Given the description of an element on the screen output the (x, y) to click on. 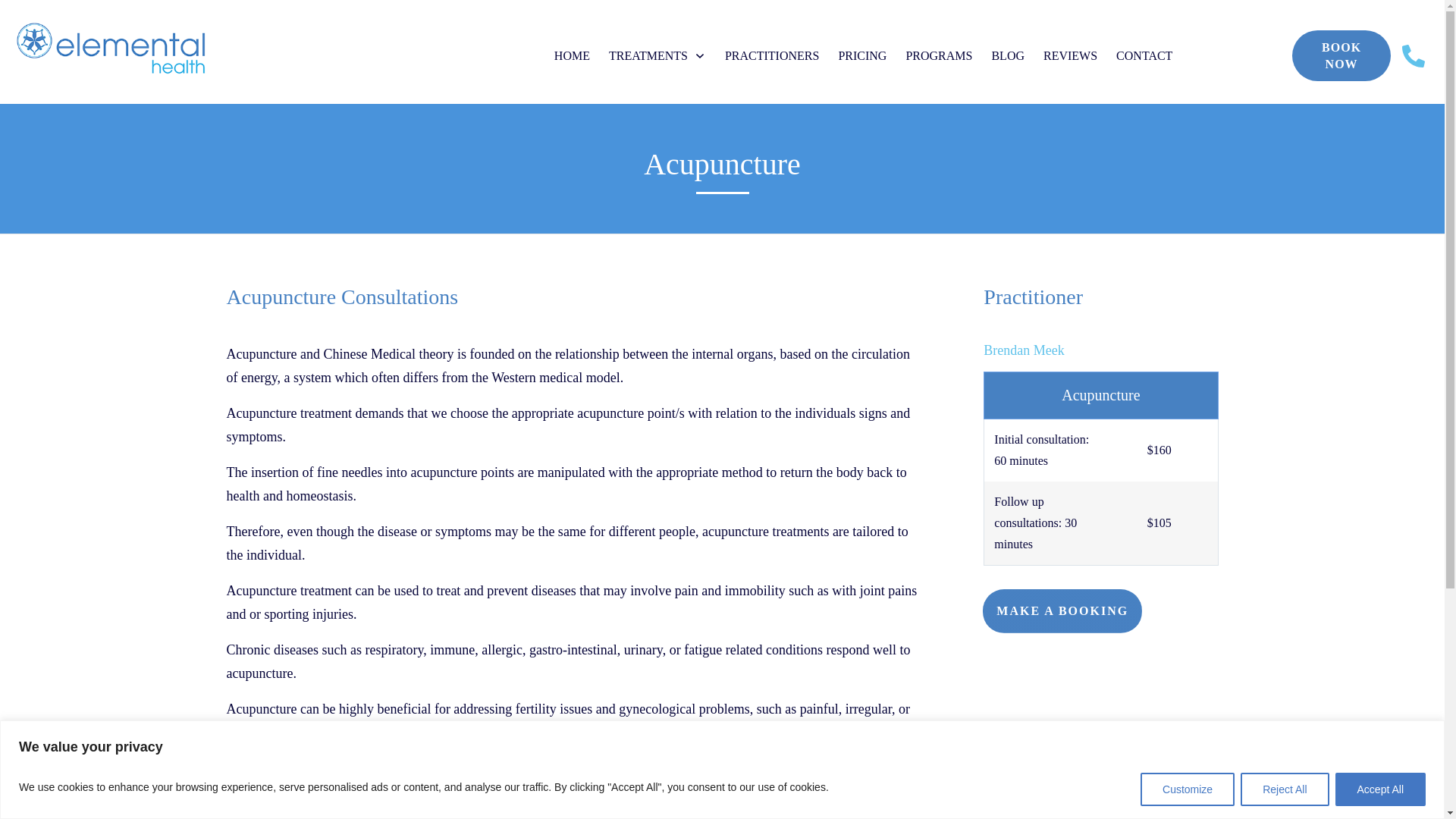
Reject All (1283, 788)
TREATMENTS (657, 55)
BLOG (1008, 55)
PRACTITIONERS (771, 55)
PRICING (862, 55)
MAKE A BOOKING (1061, 610)
Accept All (1380, 788)
HOME (571, 55)
BOOK NOW (1341, 55)
REVIEWS (1070, 55)
